Given the description of an element on the screen output the (x, y) to click on. 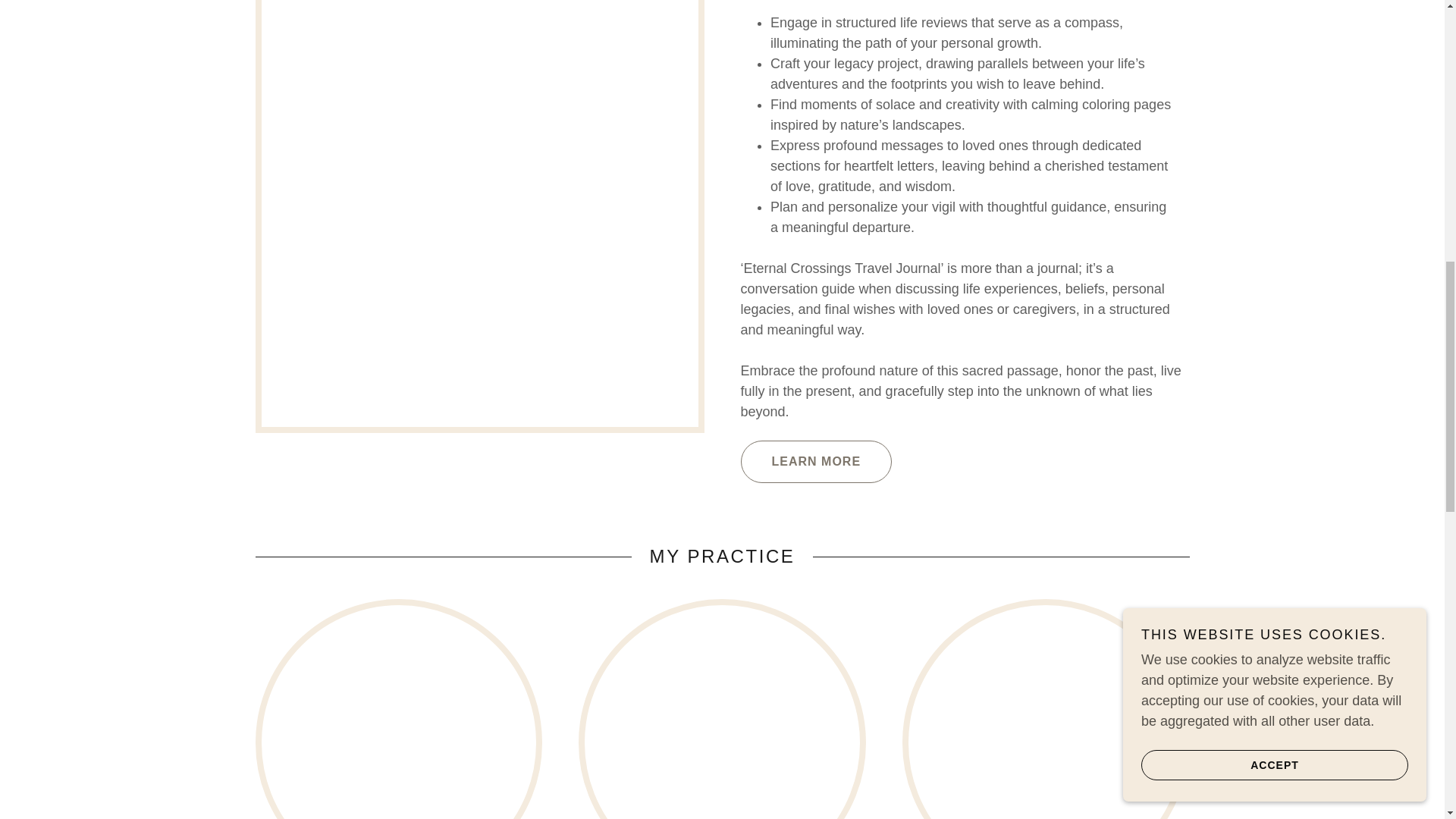
LEARN MORE (815, 461)
